Given the description of an element on the screen output the (x, y) to click on. 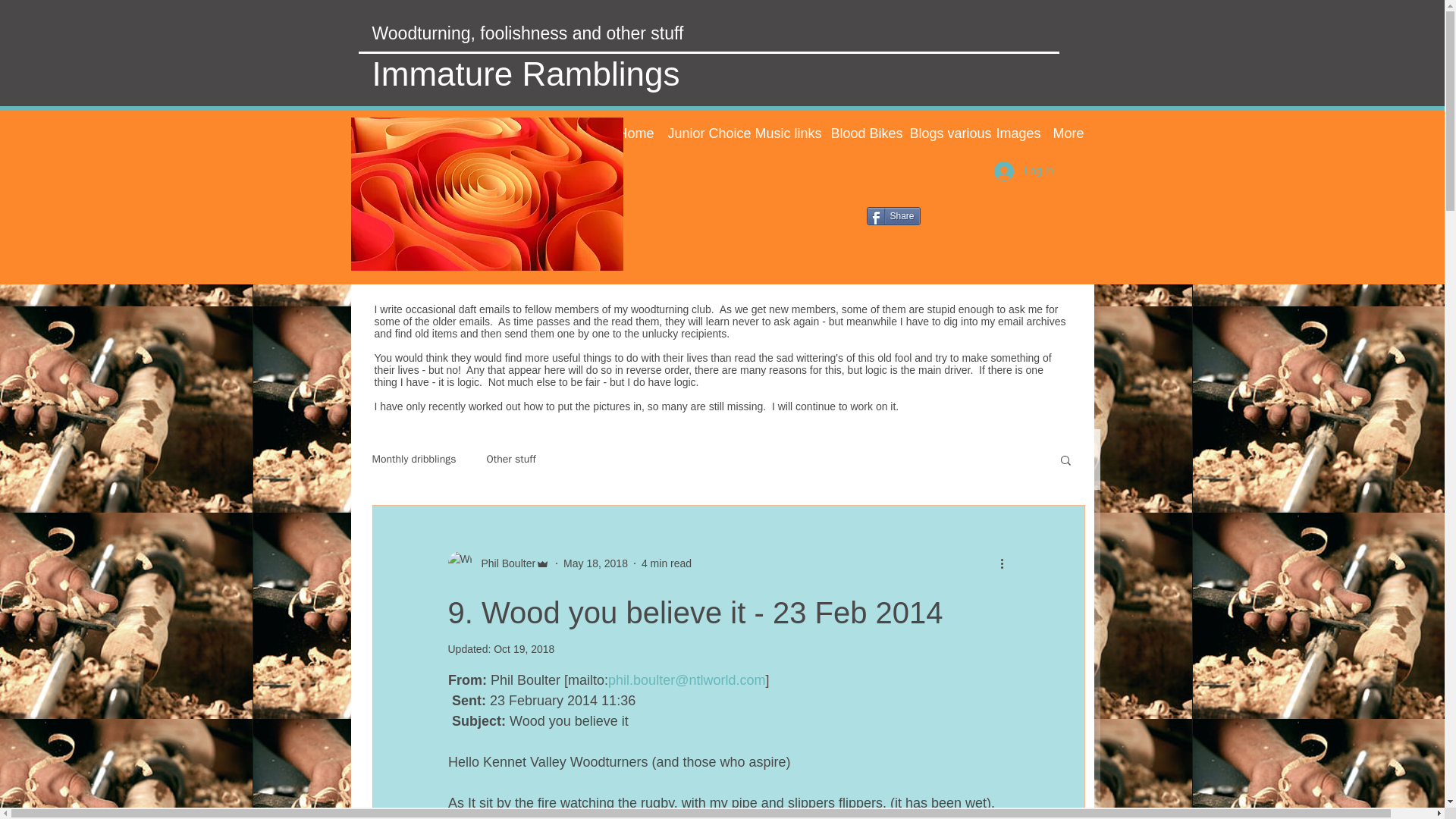
Blood Bikes (858, 132)
May 18, 2018 (595, 562)
Paper Art (486, 194)
Phil Boulter (503, 562)
Immature  (446, 73)
Music links (780, 132)
Share (893, 216)
Other stuff (510, 459)
Share (893, 216)
Monthly dribblings (413, 459)
Home (631, 132)
Phil Boulter (498, 563)
Images (1012, 132)
4 min read (666, 562)
Blogs various (941, 132)
